Given the description of an element on the screen output the (x, y) to click on. 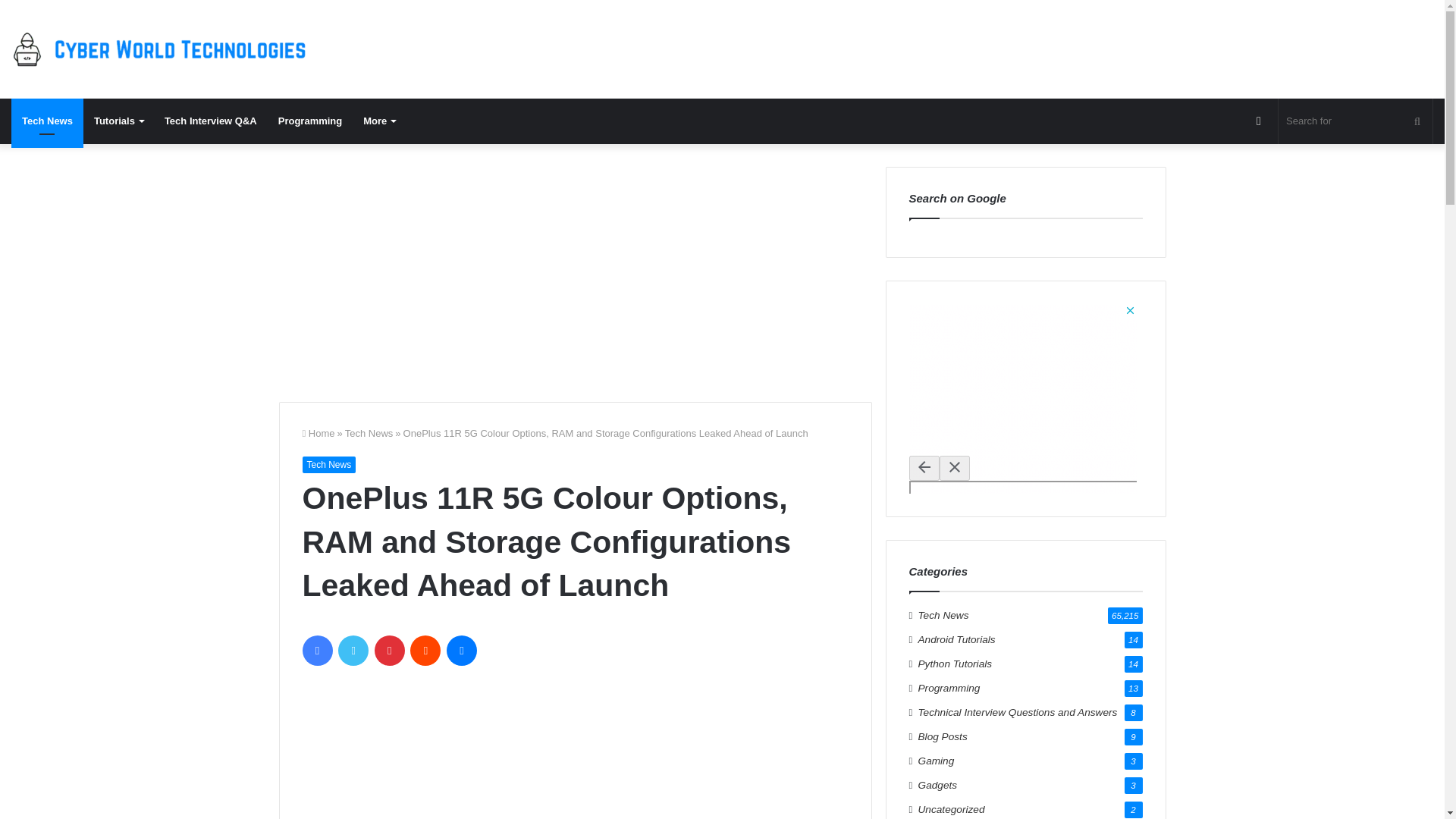
Tech News (369, 432)
Reddit (425, 650)
Twitter (352, 650)
Pinterest (389, 650)
Tech News (46, 121)
Advertisement (575, 273)
Programming (310, 121)
Cyber World Technologies (162, 48)
Tutorials (118, 121)
Messenger (461, 650)
